Given the description of an element on the screen output the (x, y) to click on. 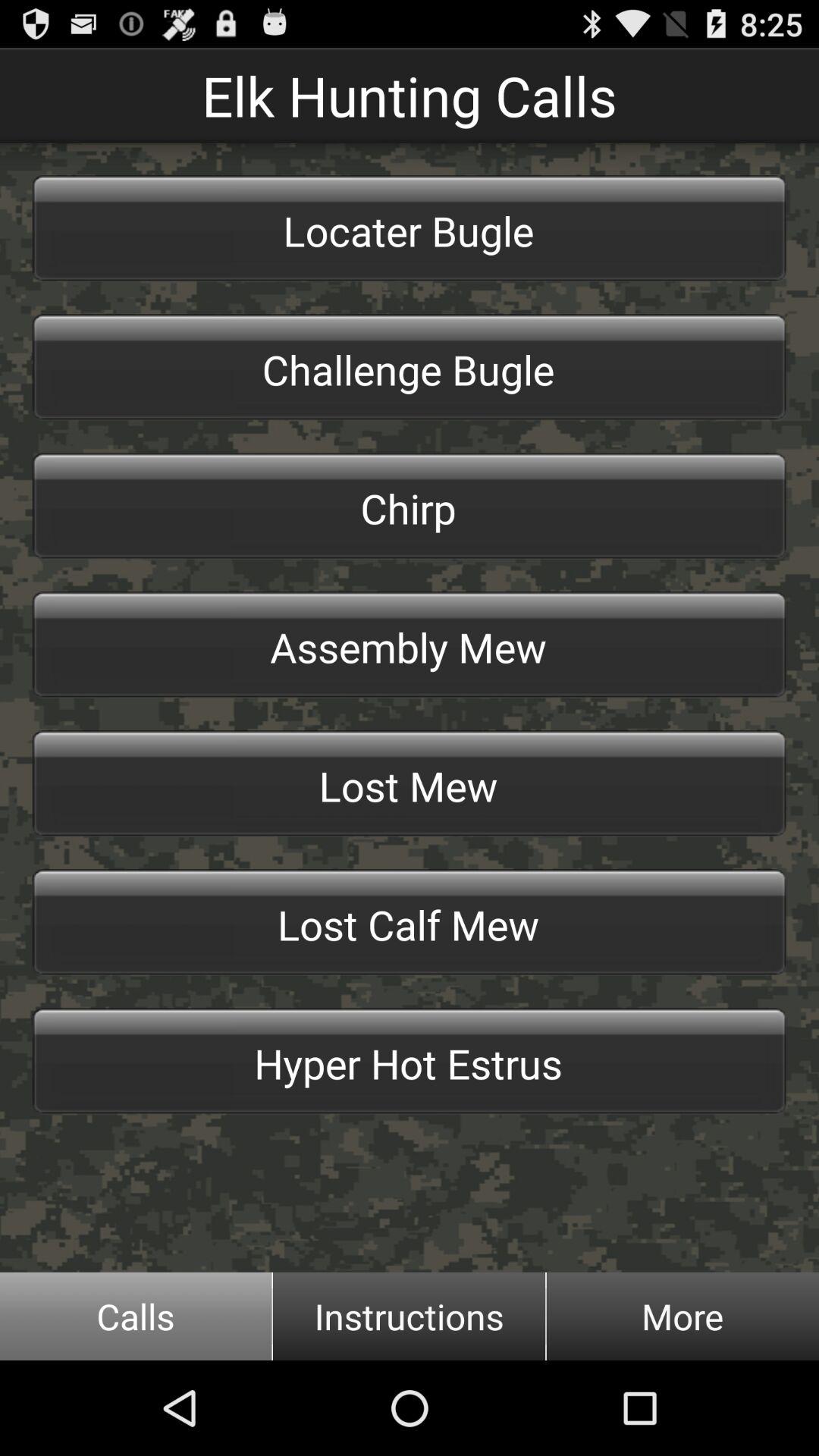
turn off the item below lost calf mew (409, 1060)
